Given the description of an element on the screen output the (x, y) to click on. 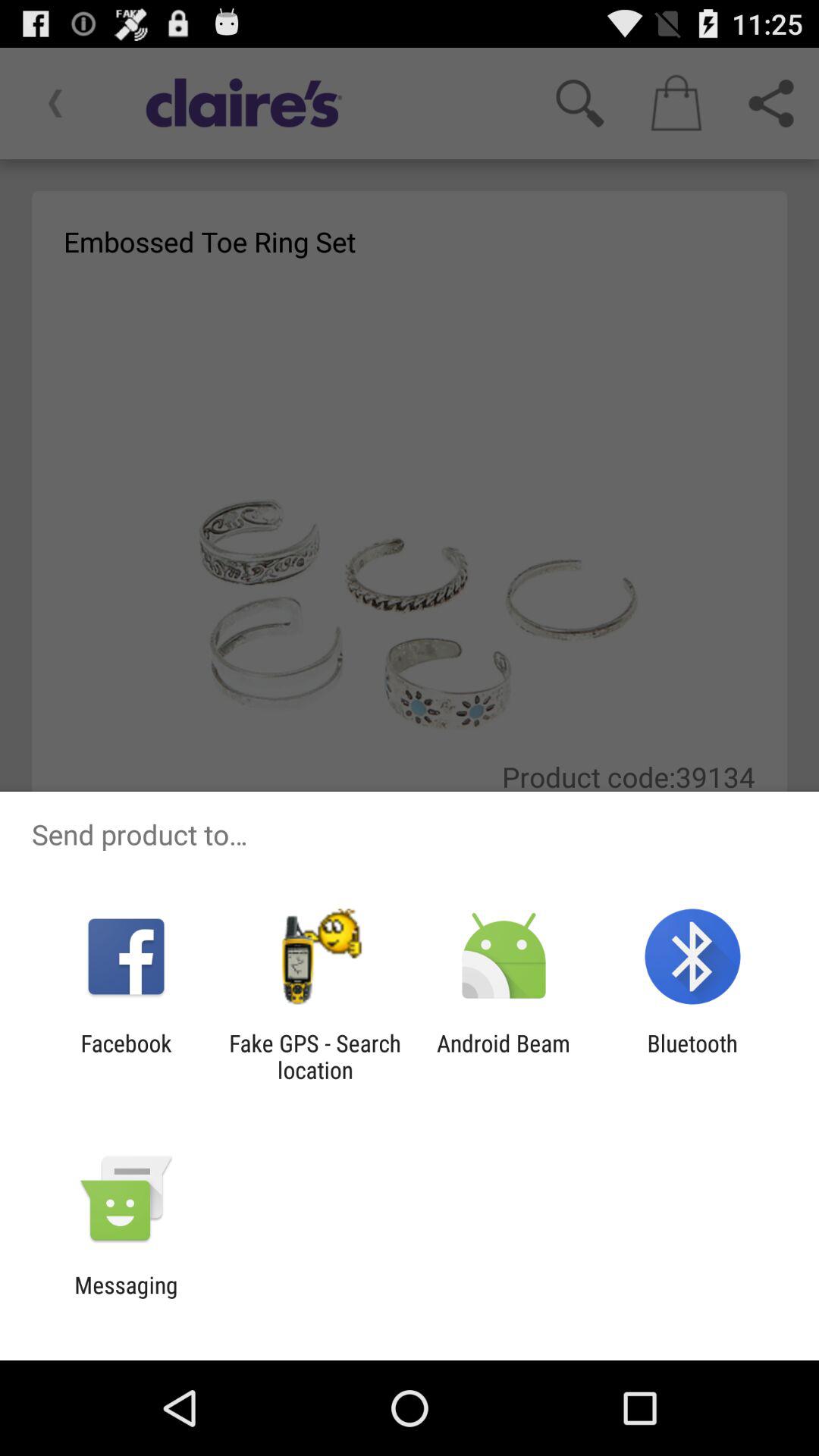
press the item to the left of fake gps search (125, 1056)
